Given the description of an element on the screen output the (x, y) to click on. 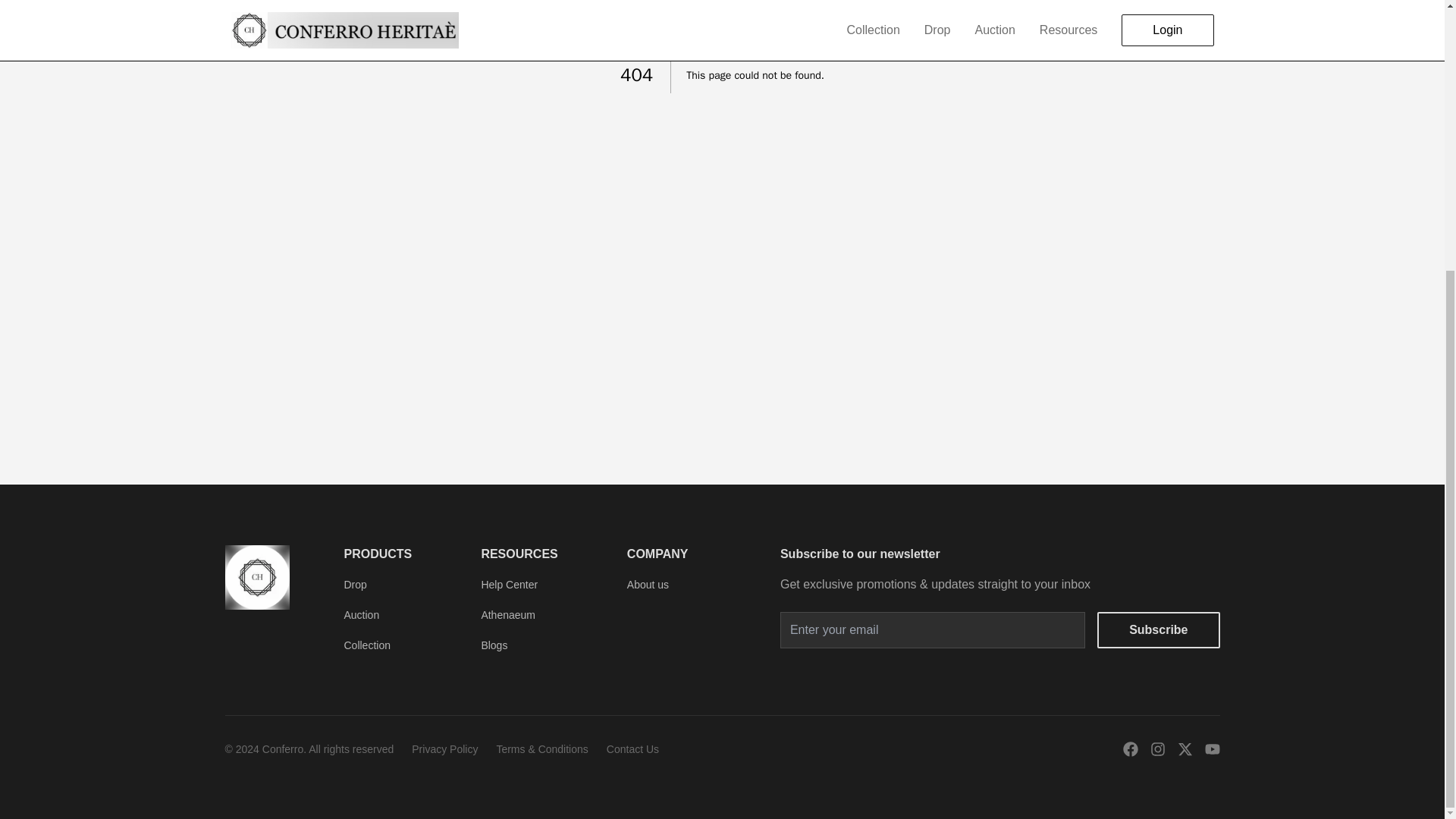
Drop (354, 584)
Blogs (493, 645)
Contact Us (633, 748)
About us (647, 584)
Subscribe (1158, 629)
Auction (361, 614)
Help Center (508, 584)
Collection (366, 645)
Privacy Policy (444, 748)
Athenaeum (507, 614)
